Given the description of an element on the screen output the (x, y) to click on. 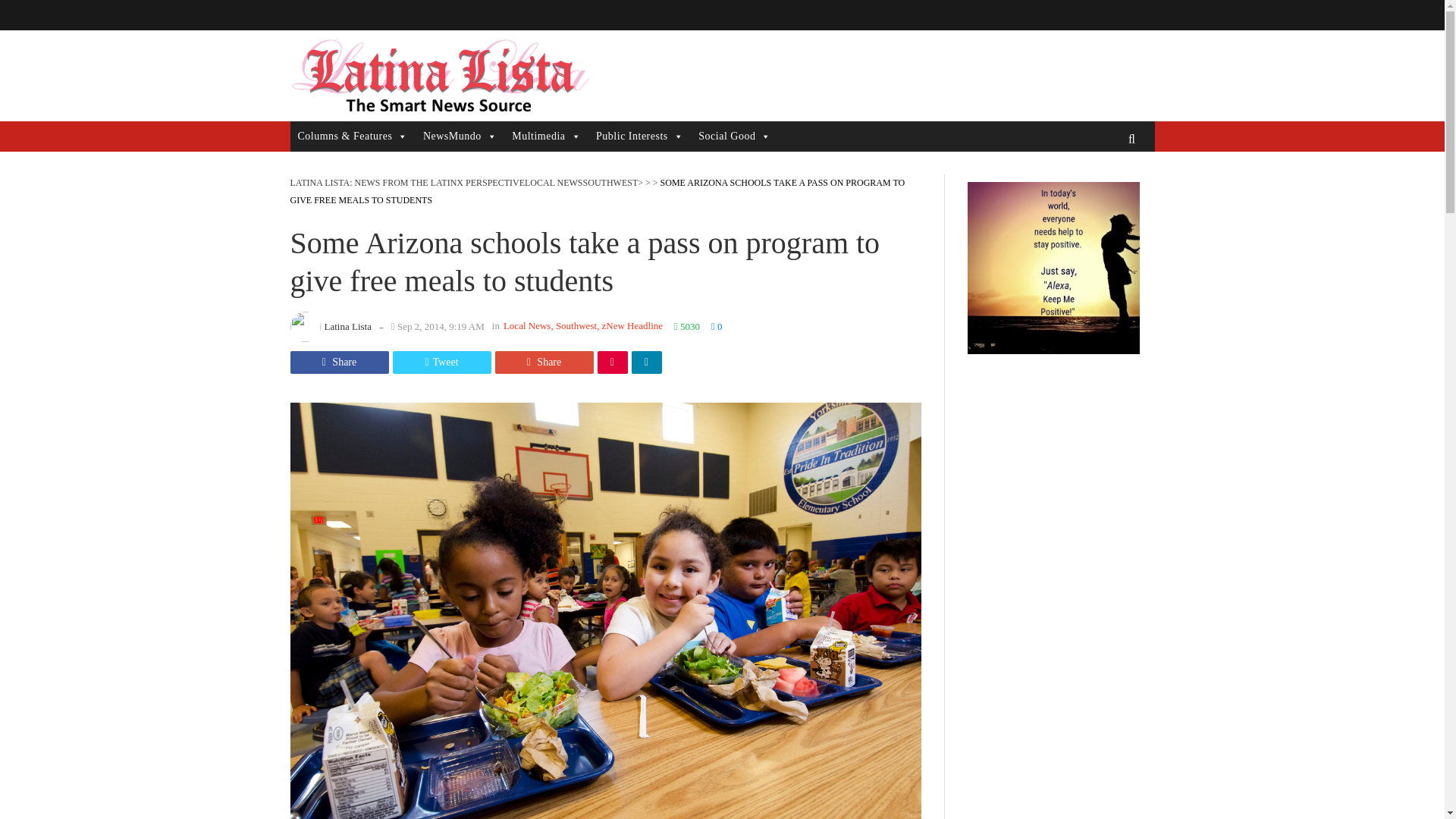
Latina Lista: News from the Latinx perspective (438, 75)
Go to Latina Lista: News from the Latinx perspective. (406, 182)
NewsMundo (458, 136)
Posts by Latina Lista (347, 326)
Go to the Local News Category archives. (553, 182)
Go to the Southwest Category archives. (611, 182)
